Given the description of an element on the screen output the (x, y) to click on. 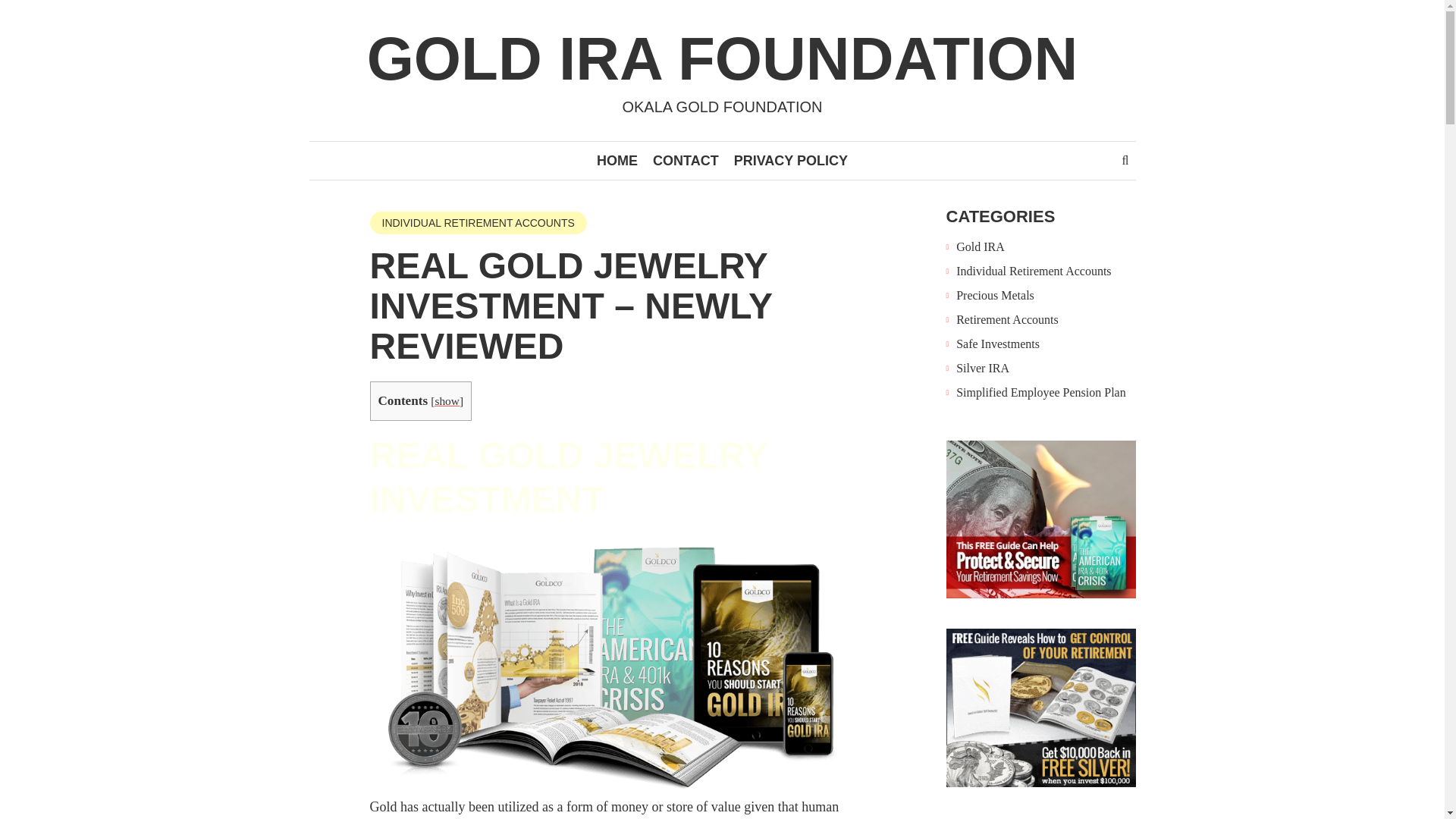
Simplified Employee Pension Plan (1040, 391)
Safe Investments (997, 342)
INDIVIDUAL RETIREMENT ACCOUNTS (477, 222)
Individual Retirement Accounts (1033, 269)
show (445, 400)
Retirement Accounts (1007, 318)
Silver IRA (982, 367)
Gold IRA (980, 245)
CONTACT (685, 160)
PRIVACY POLICY (791, 160)
Precious Metals (994, 294)
HOME (617, 160)
GOLD IRA FOUNDATION (722, 58)
